Given the description of an element on the screen output the (x, y) to click on. 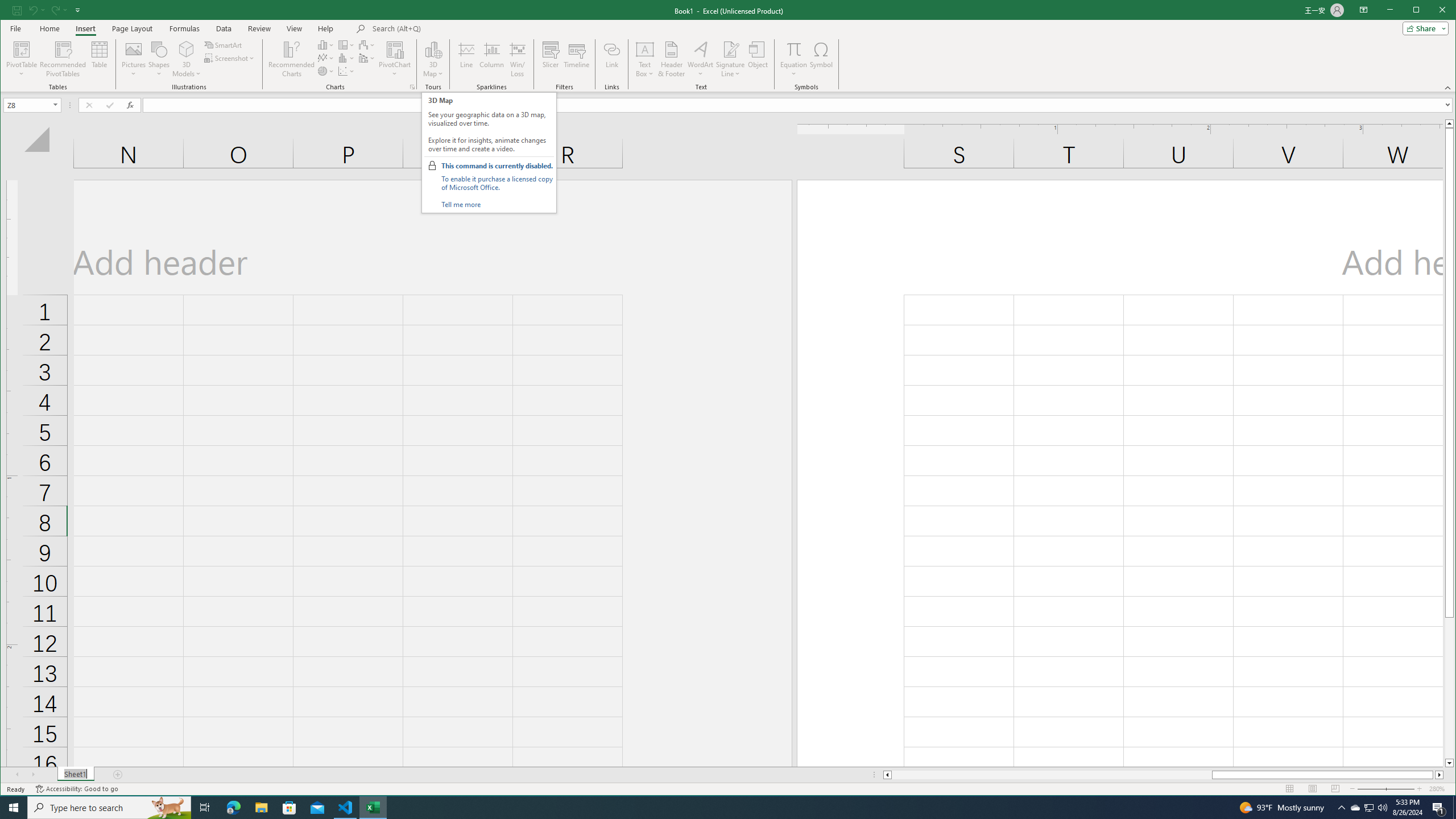
Recommended Charts (411, 86)
Slicer... (550, 59)
3D Models (186, 59)
Link (611, 59)
Equation (793, 48)
Screenshot (229, 57)
Insert Line or Area Chart (325, 57)
Insert Waterfall, Funnel, Stock, Surface, or Radar Chart (366, 44)
Maximize (1432, 11)
